Given the description of an element on the screen output the (x, y) to click on. 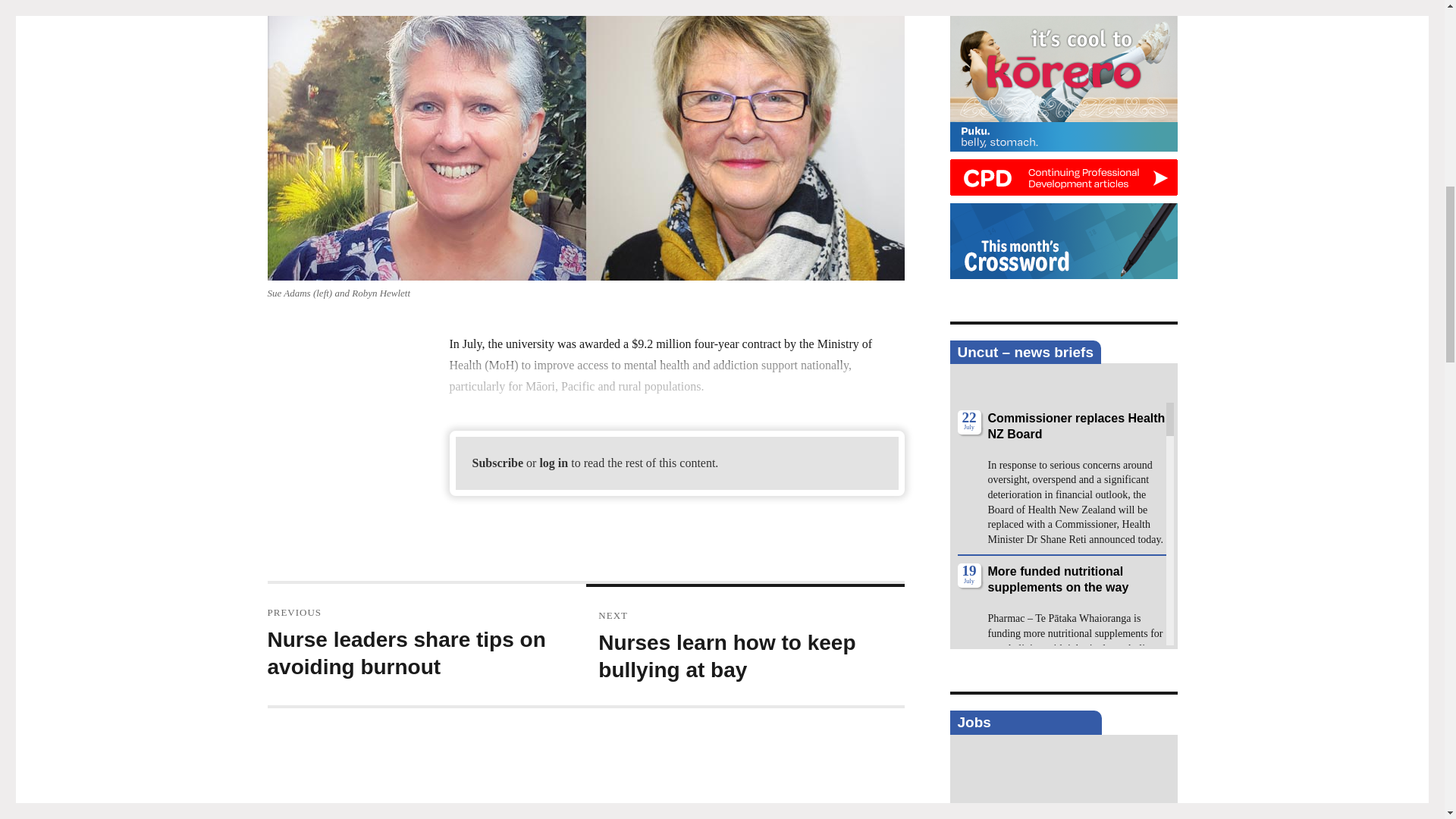
More funded nutritional supplements on the way (1057, 579)
Subscribe (496, 462)
log in (552, 462)
Commissioner replaces Health NZ Board (1075, 425)
